Given the description of an element on the screen output the (x, y) to click on. 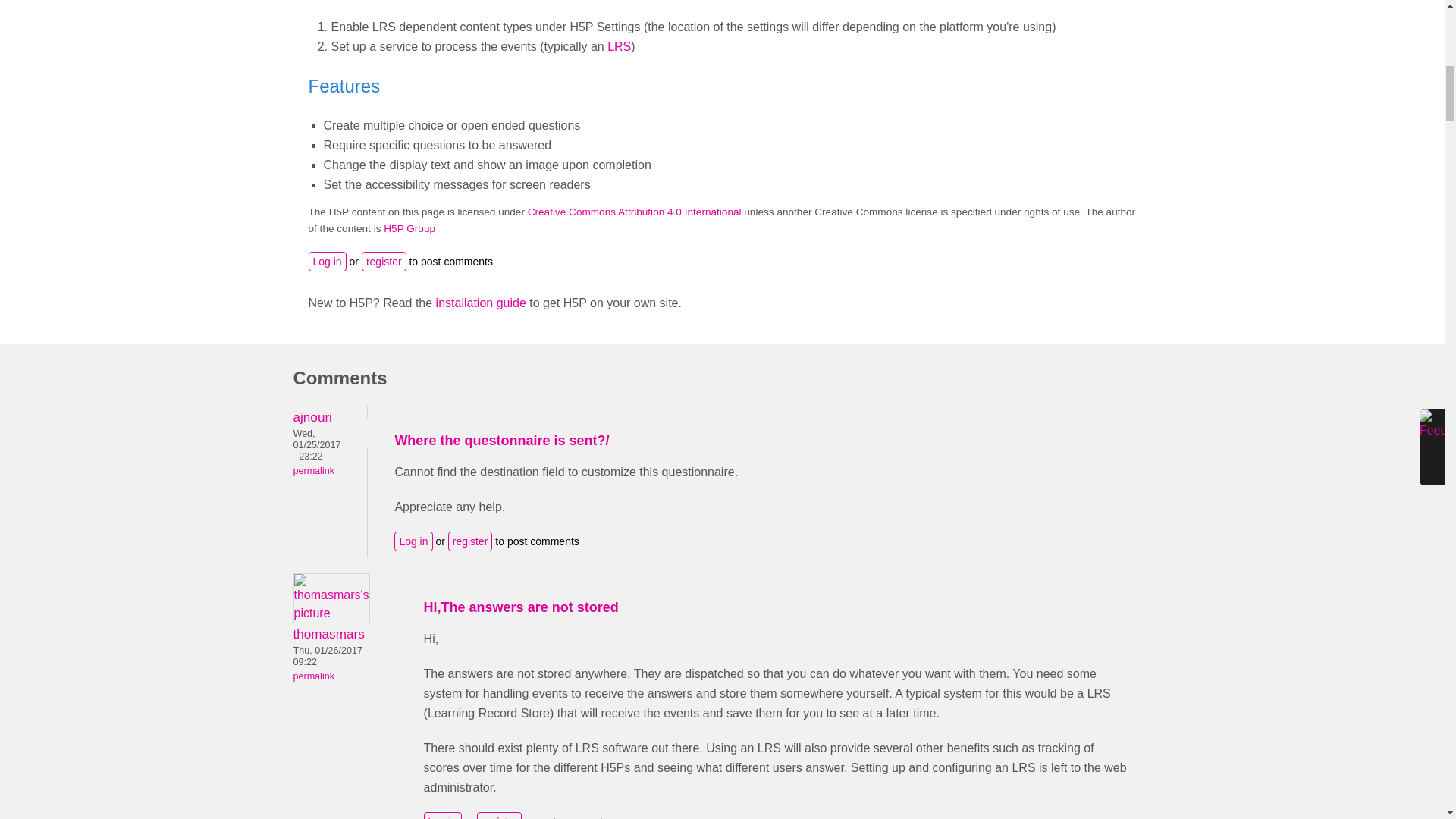
View user profile. (330, 612)
LRS (618, 46)
thomasmars's picture (330, 598)
Log in (326, 261)
register (383, 261)
Creative Commons Attribution 4.0 International (634, 211)
register (470, 541)
View user profile. (311, 417)
permalink (312, 675)
View user profile. (328, 633)
